Given the description of an element on the screen output the (x, y) to click on. 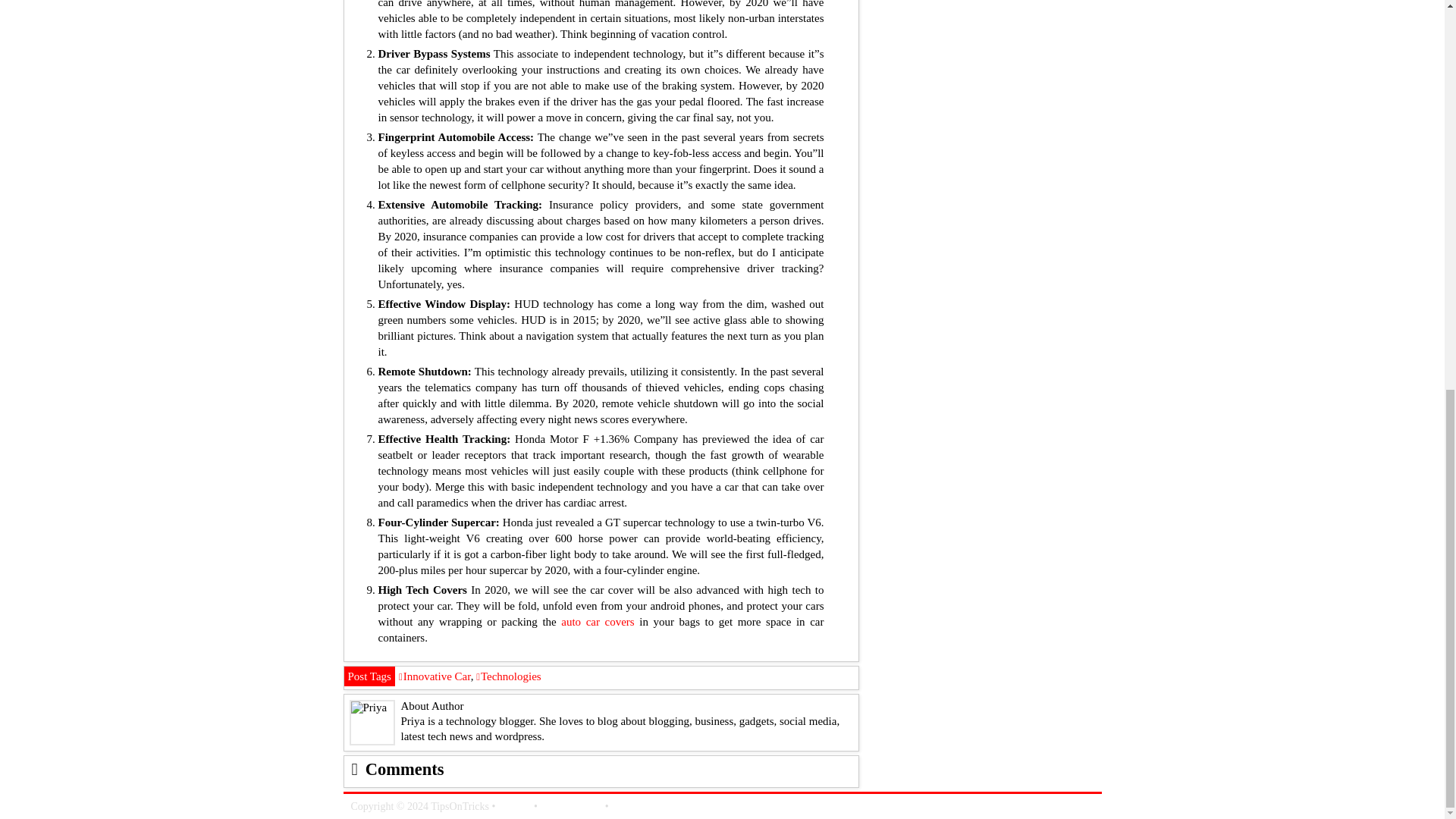
Technologies (508, 676)
Contact (514, 806)
Disclaimer (634, 806)
Innovative Car (434, 676)
auto car covers (596, 621)
Privacy Policy (571, 806)
